Given the description of an element on the screen output the (x, y) to click on. 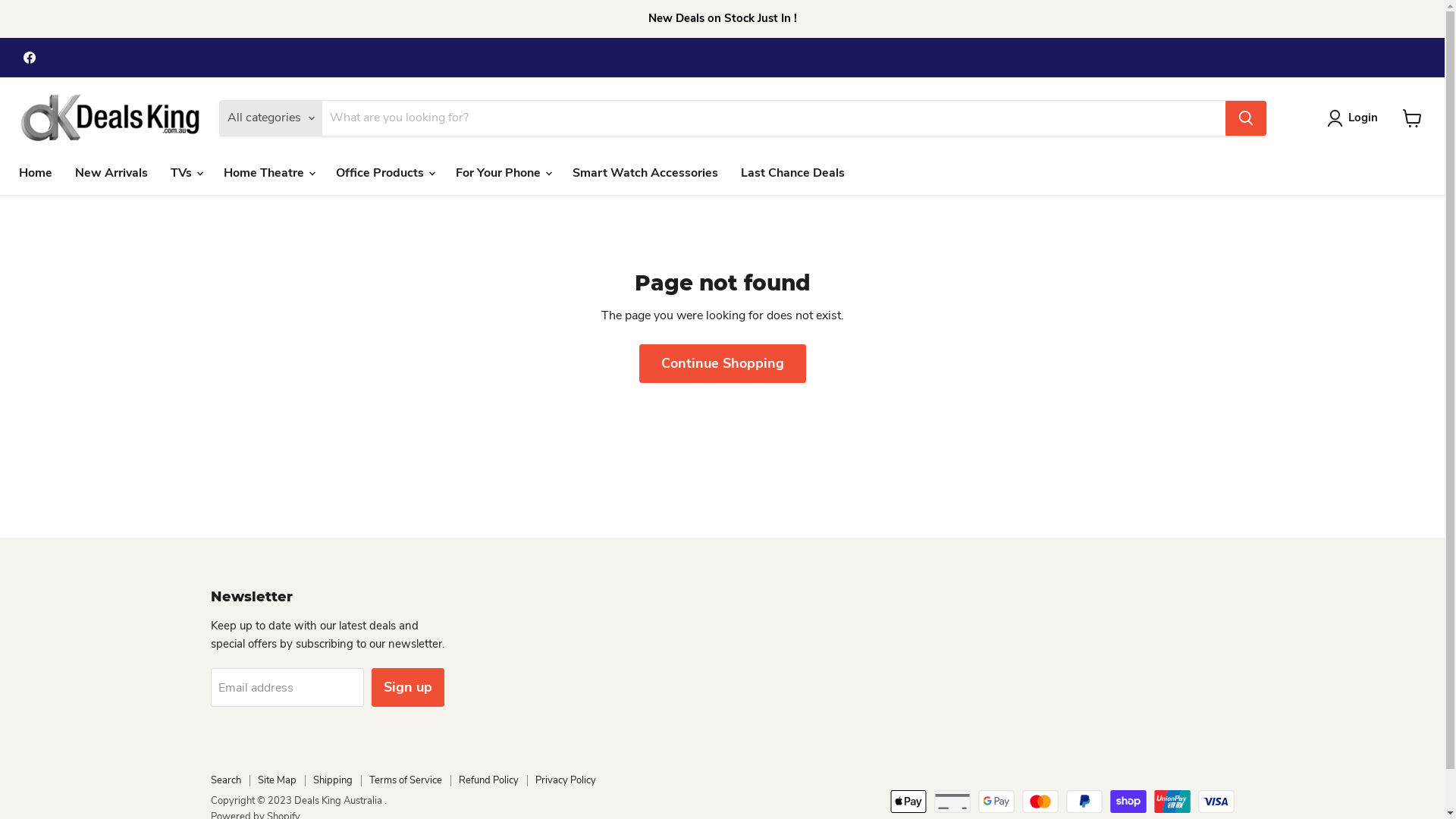
Login Element type: text (1355, 117)
Continue Shopping Element type: text (721, 363)
Last Chance Deals Element type: text (792, 172)
Sign up Element type: text (407, 687)
Site Map Element type: text (276, 780)
Home Element type: text (35, 172)
Refund Policy Element type: text (487, 780)
Terms of Service Element type: text (404, 780)
New Arrivals Element type: text (111, 172)
Privacy Policy Element type: text (565, 780)
Smart Watch Accessories Element type: text (645, 172)
Search Element type: text (225, 780)
Shipping Element type: text (331, 780)
View cart Element type: text (1412, 117)
Find us on Facebook Element type: text (29, 57)
